Given the description of an element on the screen output the (x, y) to click on. 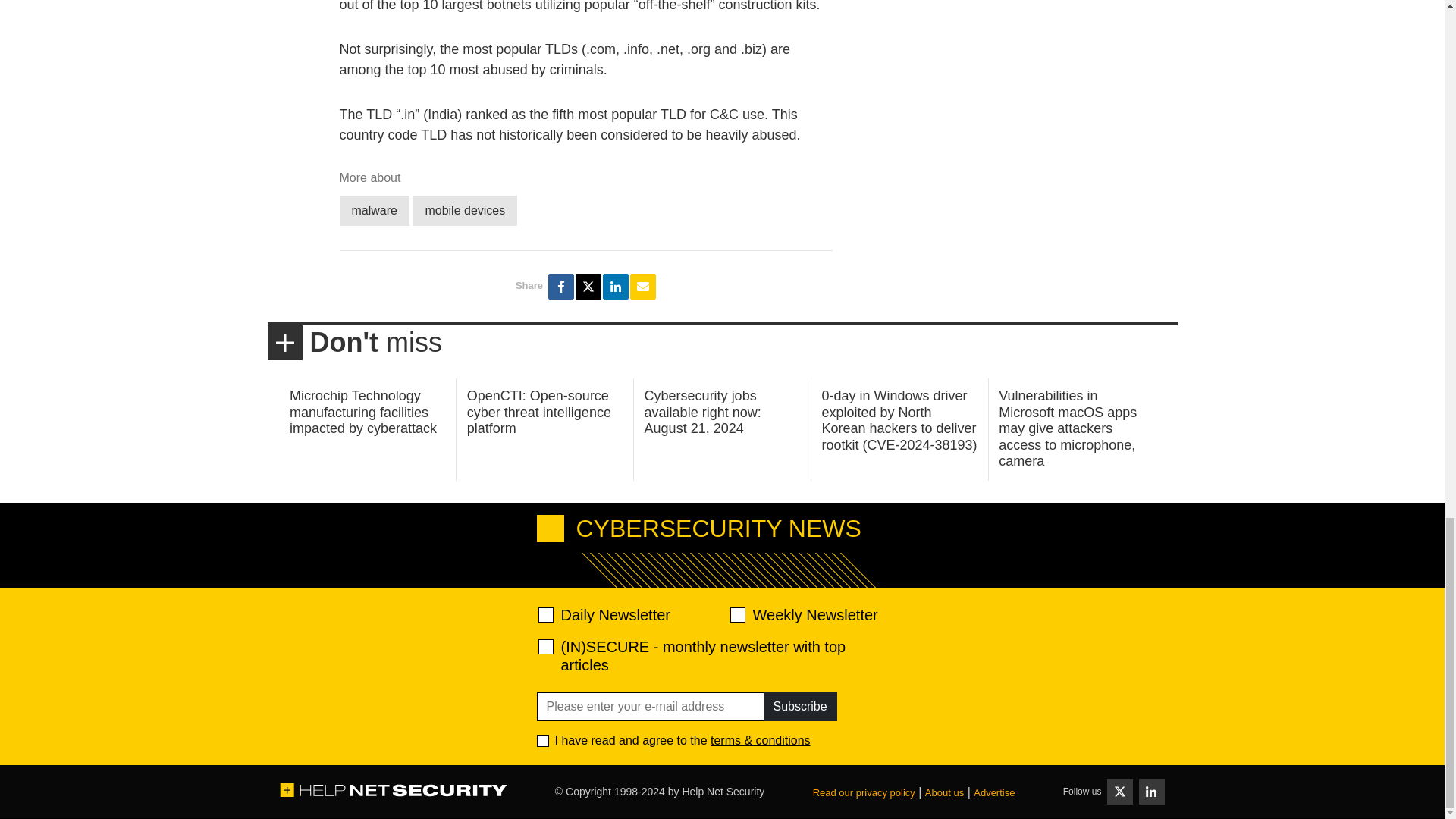
520ac2f639 (545, 614)
d2d471aafa (736, 614)
mobile devices (464, 210)
OpenCTI: Open-source cyber threat intelligence platform (539, 411)
Cybersecurity jobs available right now: August 21, 2024 (703, 411)
mobile devices (464, 210)
malware (374, 210)
